Given the description of an element on the screen output the (x, y) to click on. 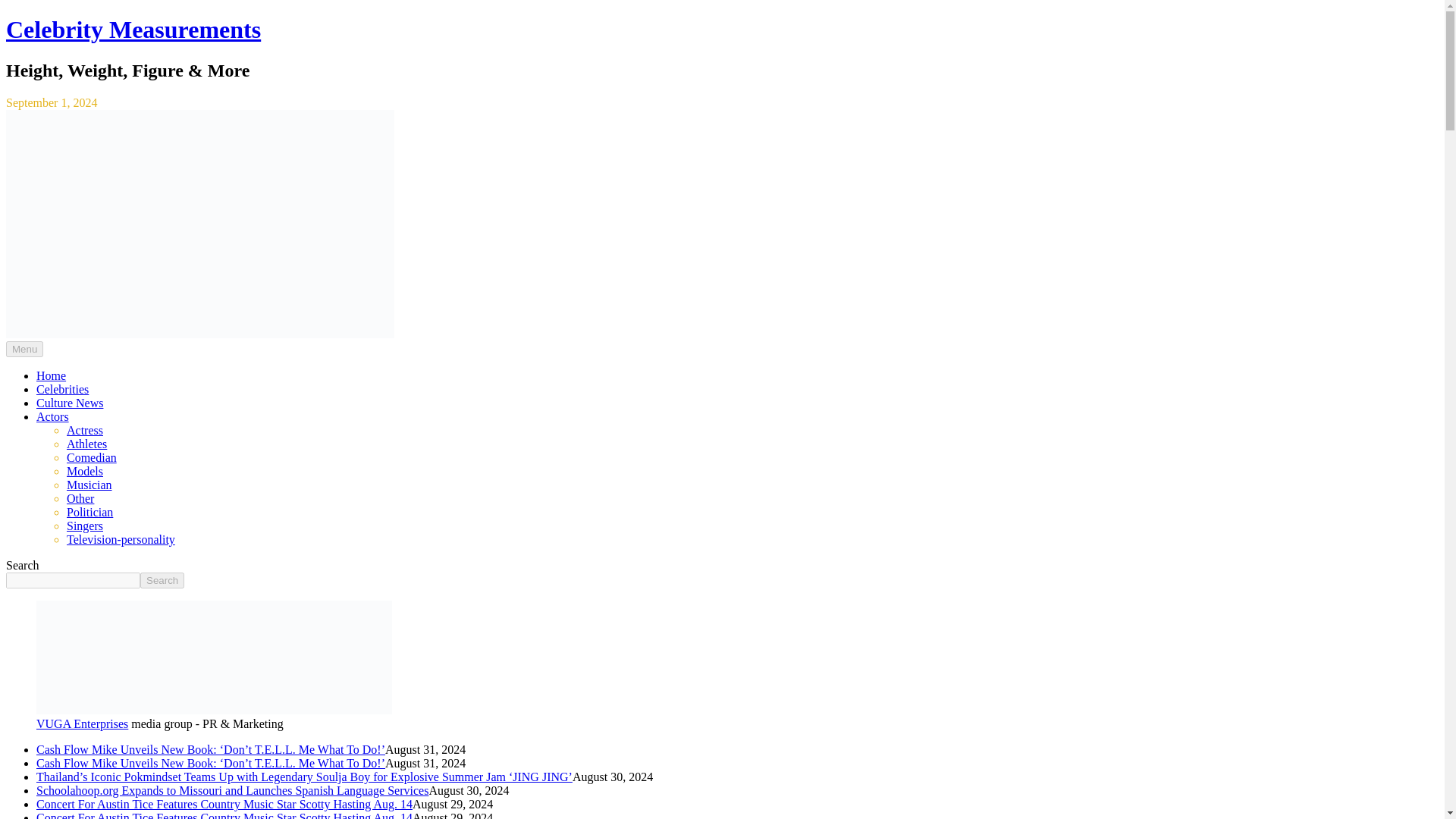
Models (84, 471)
Culture News (69, 402)
Search (161, 580)
Comedian (91, 457)
Athletes (86, 443)
Politician (89, 512)
Actress (84, 430)
Other (80, 498)
Musician (89, 484)
